Given the description of an element on the screen output the (x, y) to click on. 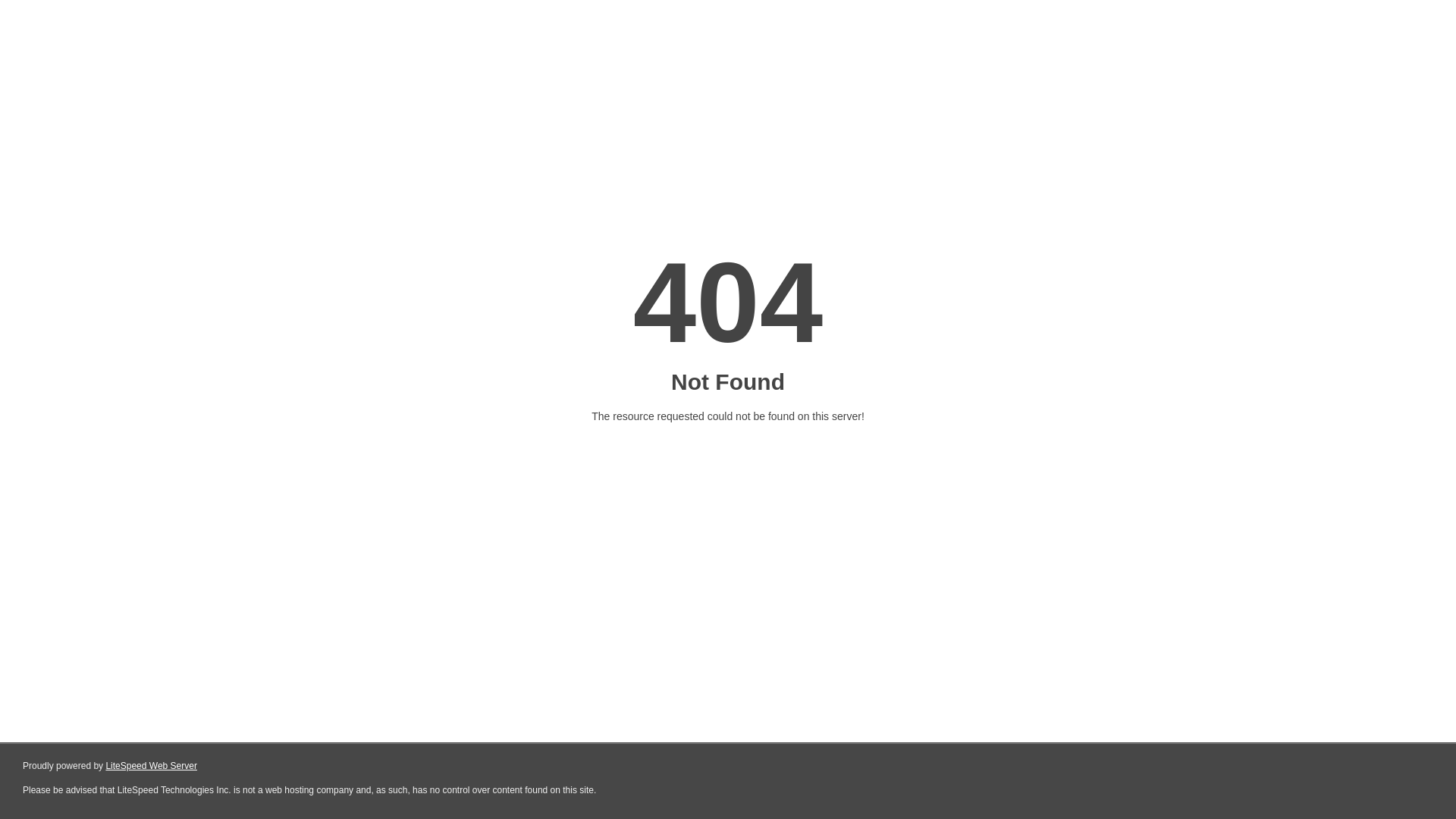
LiteSpeed Web Server Element type: text (151, 765)
